Given the description of an element on the screen output the (x, y) to click on. 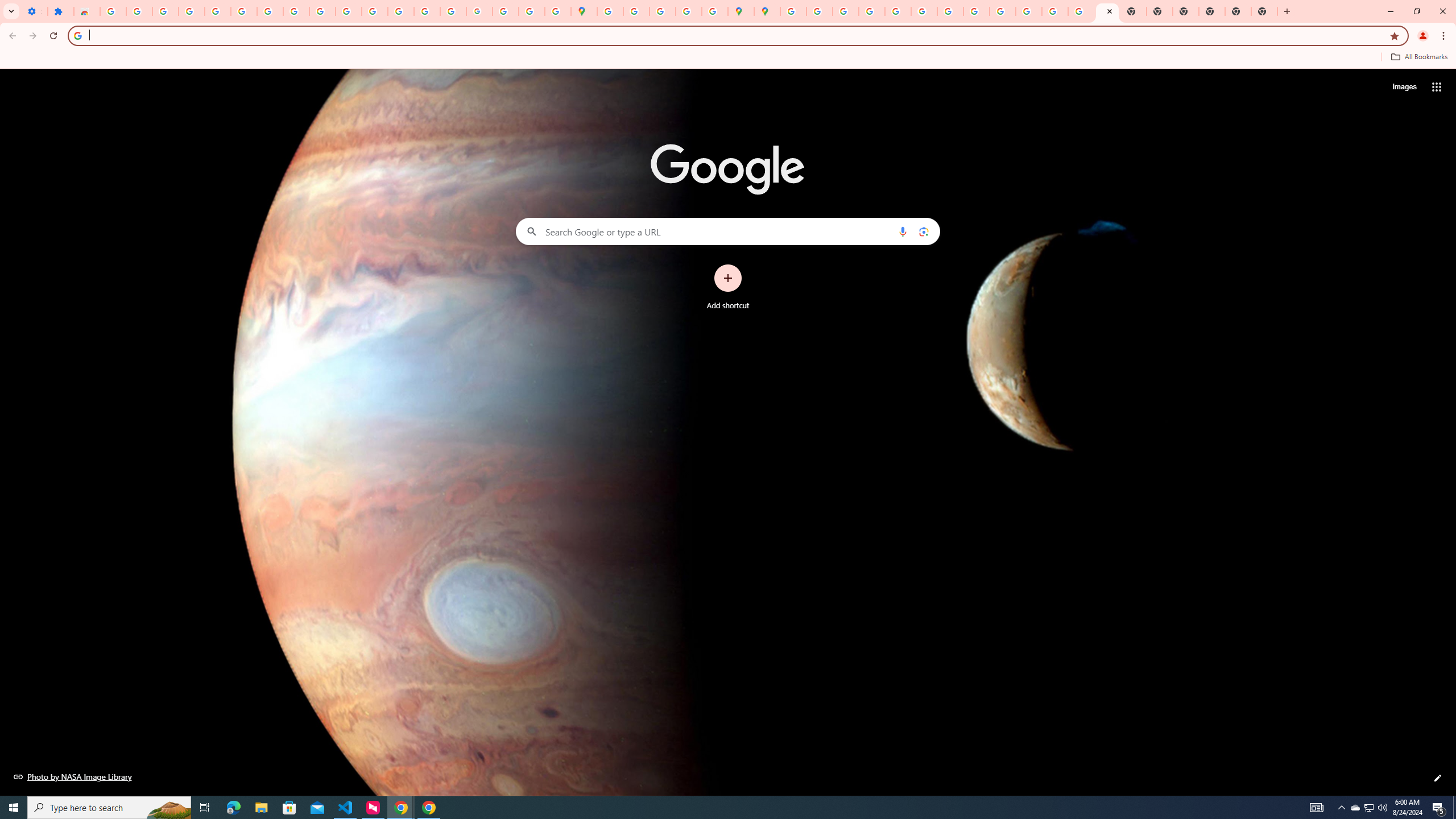
Sign in - Google Accounts (243, 11)
Privacy Help Center - Policies Help (845, 11)
YouTube (949, 11)
Reviews: Helix Fruit Jump Arcade Game (86, 11)
Google Maps (584, 11)
Customize this page (1437, 778)
